Given the description of an element on the screen output the (x, y) to click on. 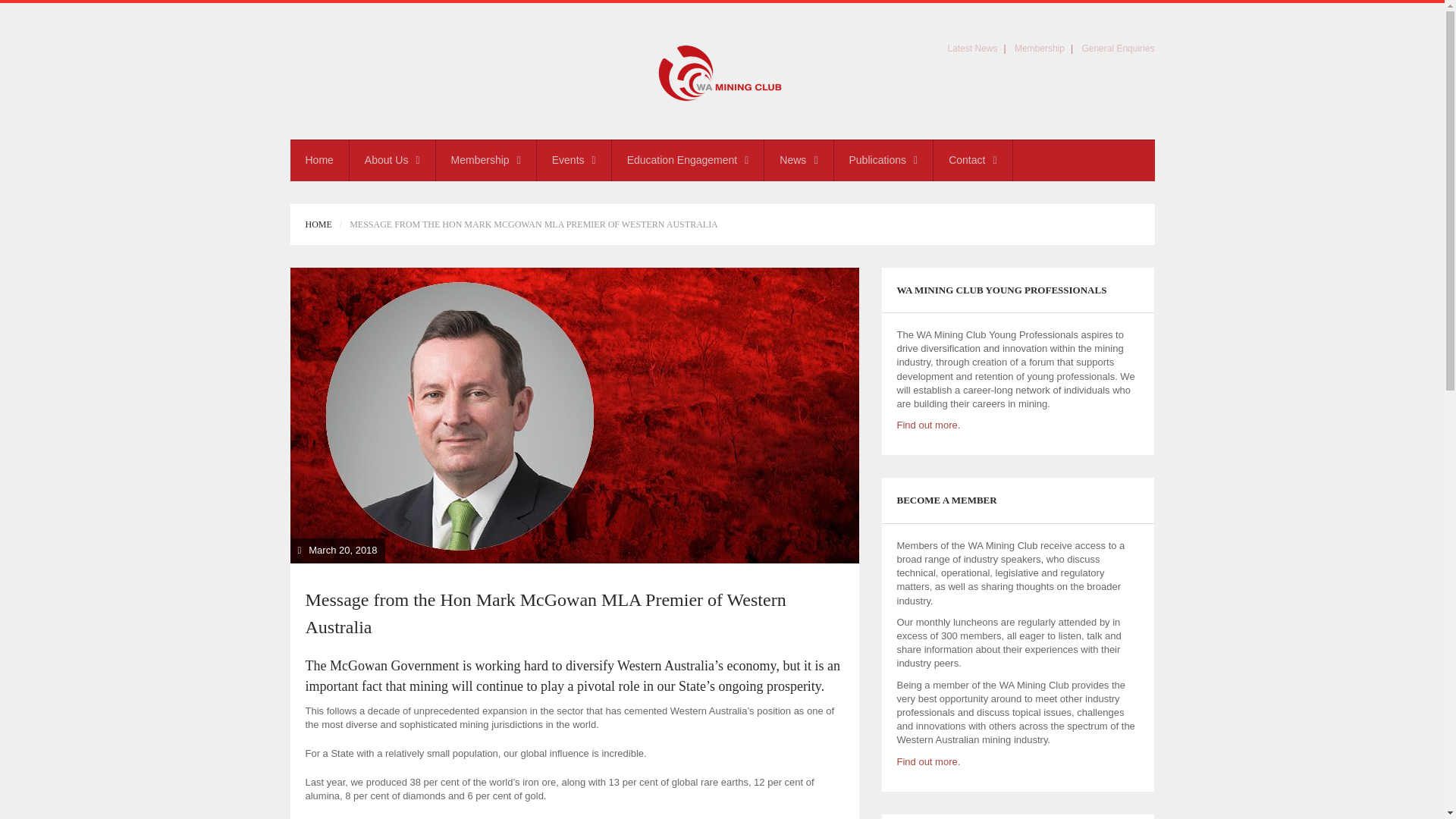
WA Mining Club (721, 70)
